Given the description of an element on the screen output the (x, y) to click on. 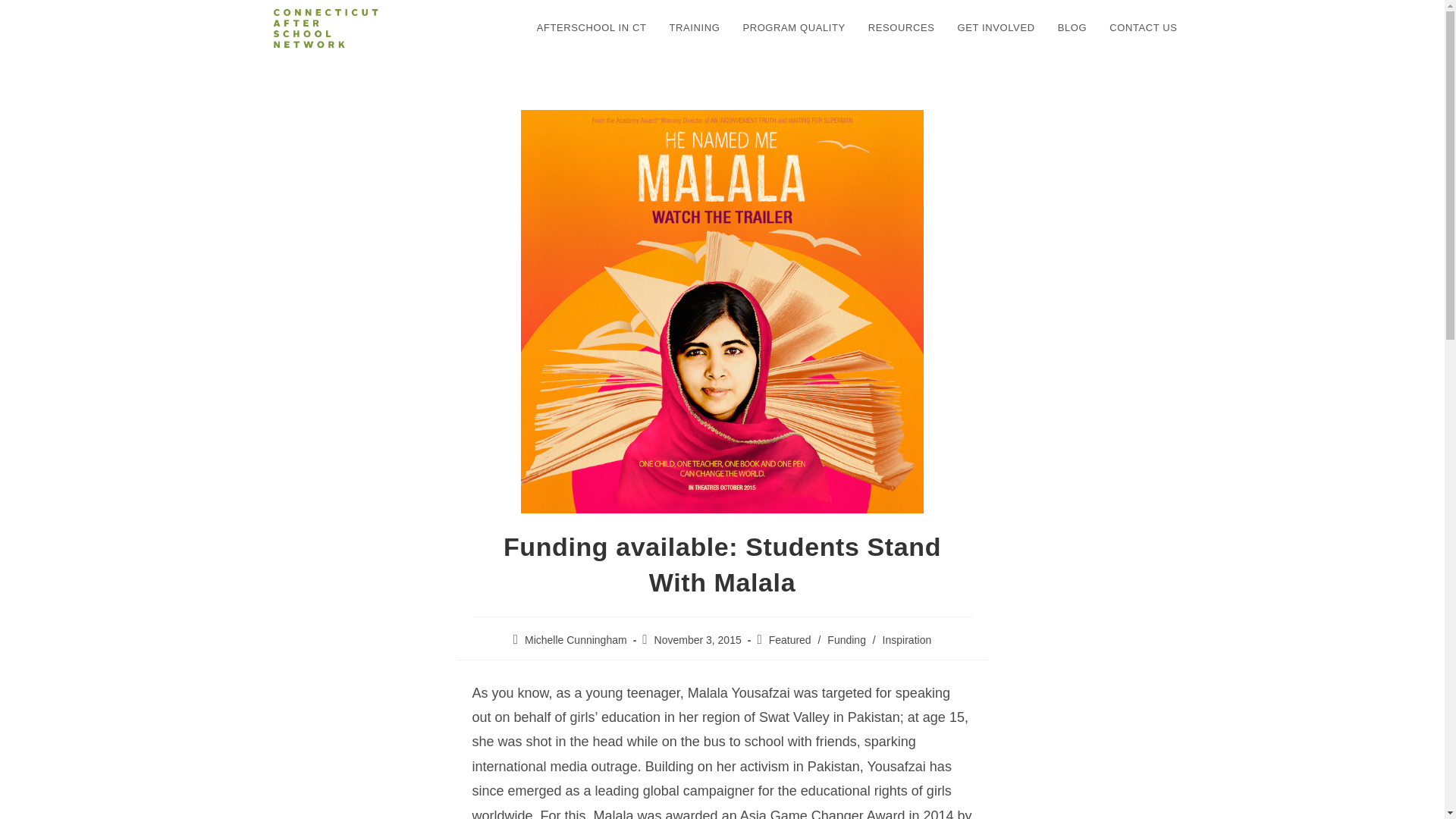
Posts by Michelle Cunningham (575, 639)
AFTERSCHOOL IN CT (591, 28)
PROGRAM QUALITY (793, 28)
TRAINING (694, 28)
RESOURCES (901, 28)
GET INVOLVED (996, 28)
Funding (846, 639)
BLOG (1072, 28)
Michelle Cunningham (575, 639)
Featured (789, 639)
